Given the description of an element on the screen output the (x, y) to click on. 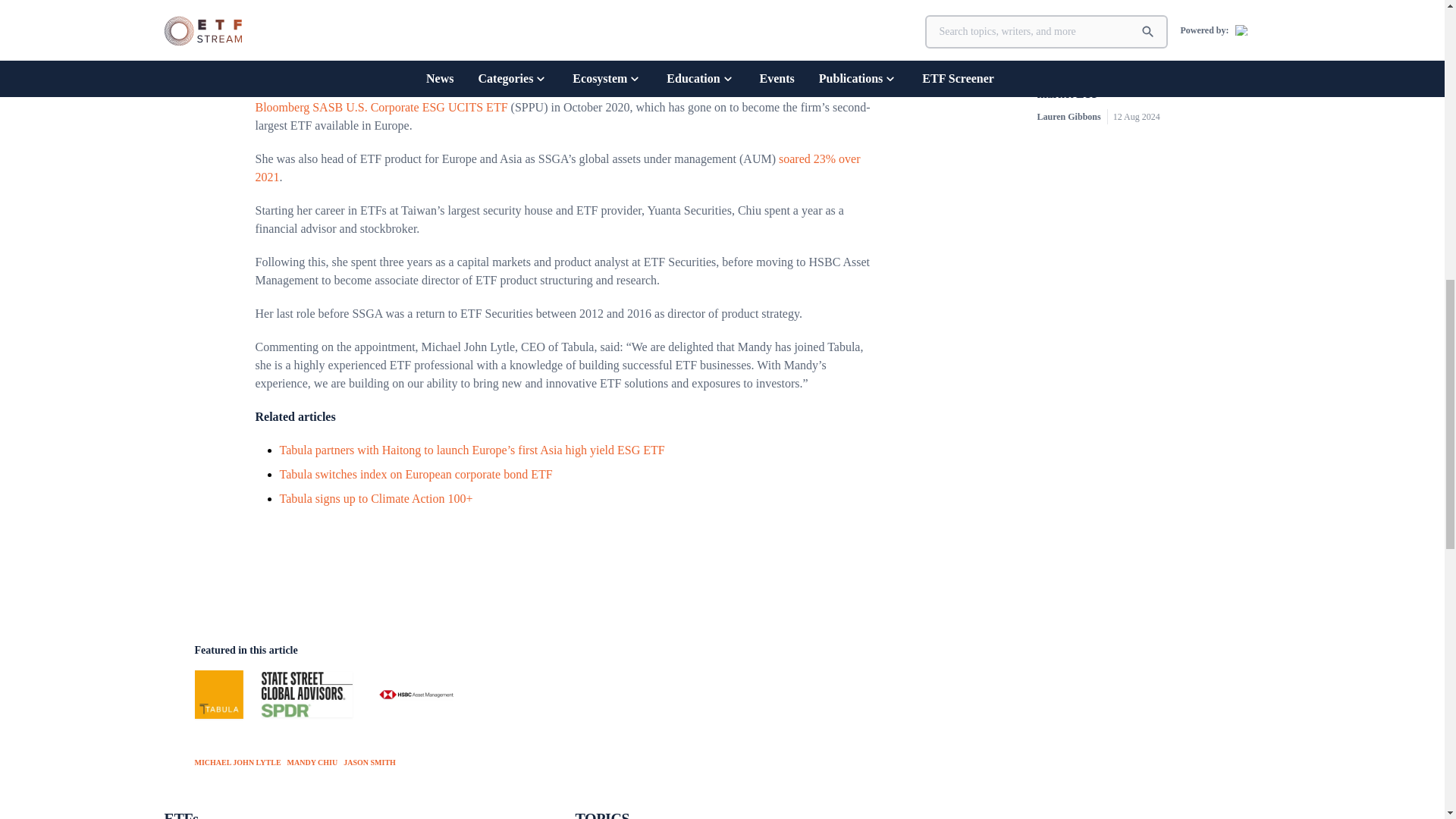
SPDR Bloomberg SASB U.S. Corporate ESG UCITS ETF (556, 97)
MICHAEL JOHN LYTLE (237, 761)
MANDY CHIU (311, 761)
Tabula switches index on European corporate bond ETF (415, 473)
